Given the description of an element on the screen output the (x, y) to click on. 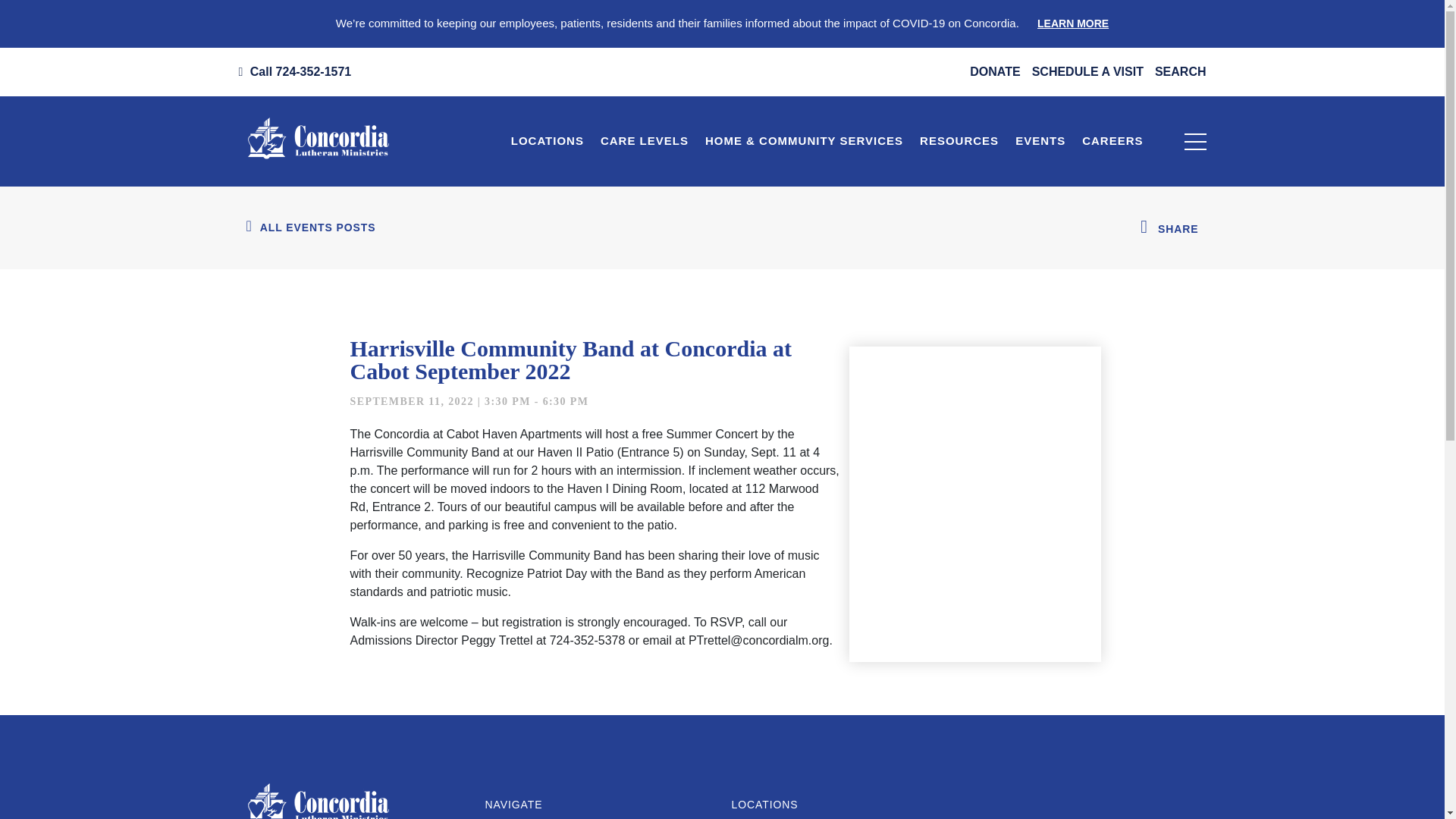
DONATE (994, 71)
SHARE (1170, 228)
Call 724-352-1571 (294, 71)
EVENTS (1040, 141)
LEARN MORE (1072, 23)
LOCATIONS (547, 141)
CARE LEVELS (644, 141)
SHARE (1178, 229)
SEARCH (1180, 71)
RESOURCES (959, 141)
